Given the description of an element on the screen output the (x, y) to click on. 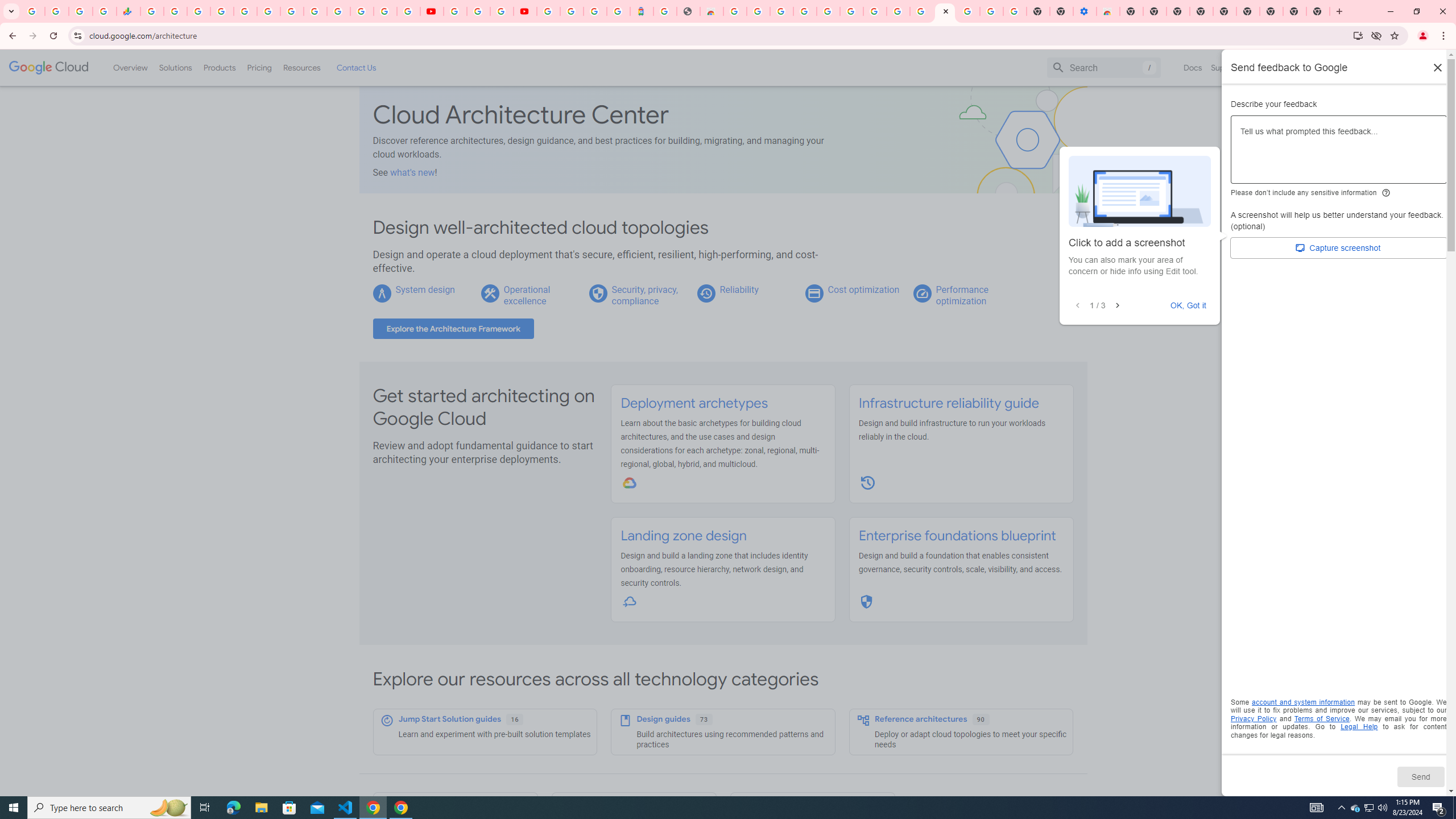
Infrastructure reliability guide (948, 402)
Next (1117, 305)
OK, Got it (1188, 305)
Create your Google Account (757, 11)
Create your Google Account (501, 11)
Operational excellence (526, 295)
Chrome Web Store - Accessibility extensions (1108, 11)
Security, privacy, compliance (644, 295)
Send (1420, 776)
account and system information (1303, 702)
